Given the description of an element on the screen output the (x, y) to click on. 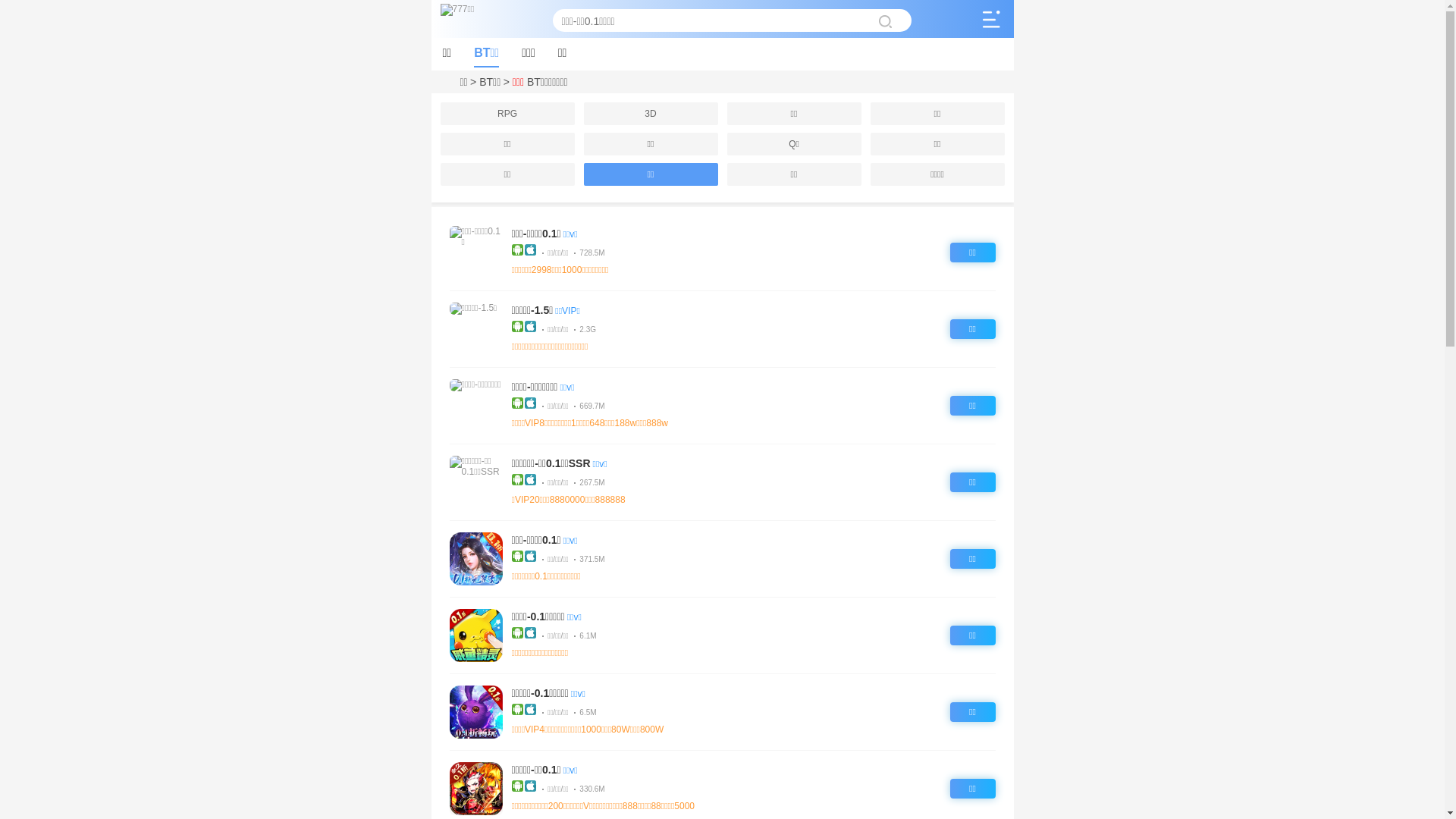
RPG Element type: text (506, 113)
3D Element type: text (650, 113)
